Given the description of an element on the screen output the (x, y) to click on. 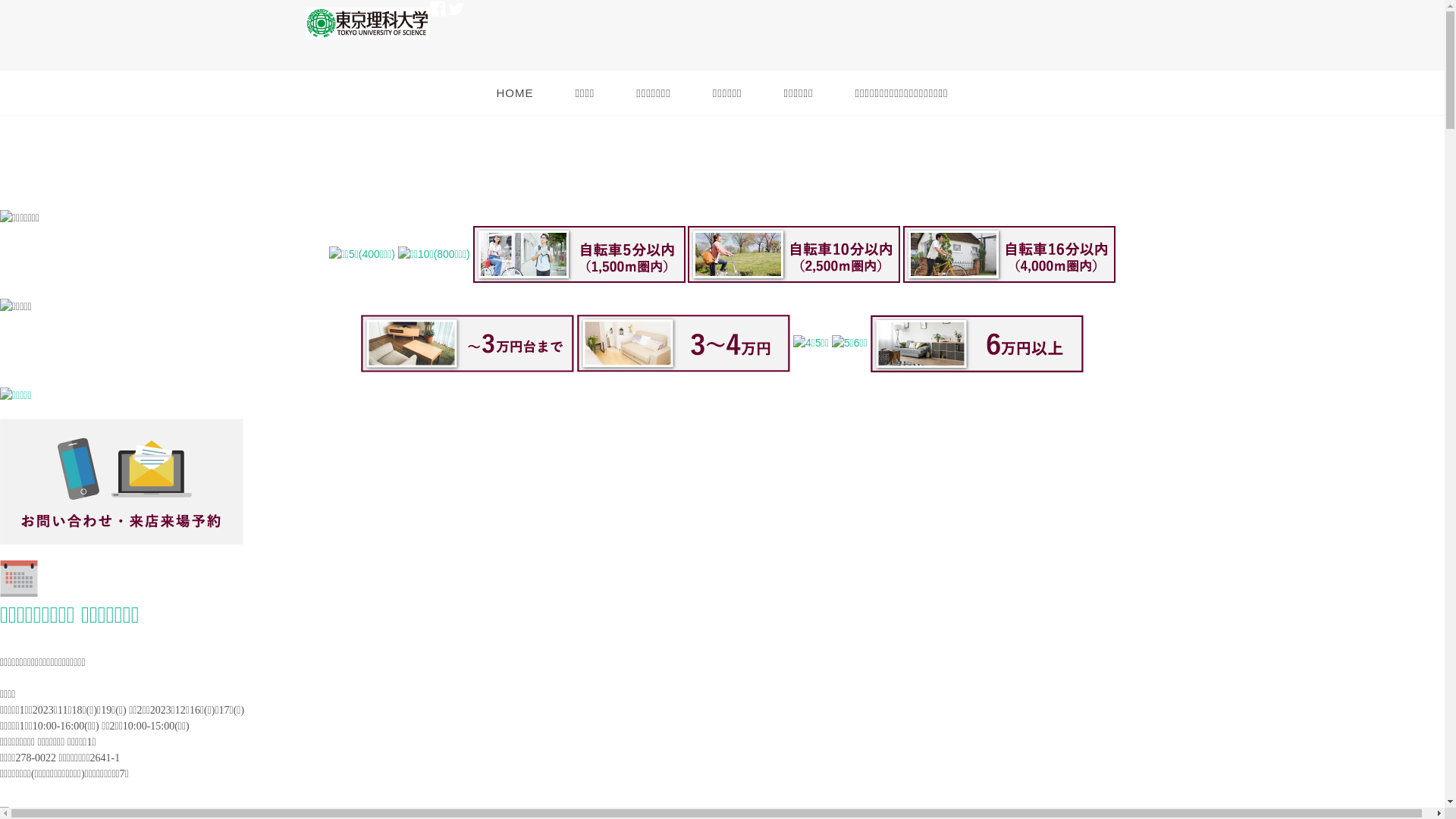
HOME Element type: text (514, 93)
